Given the description of an element on the screen output the (x, y) to click on. 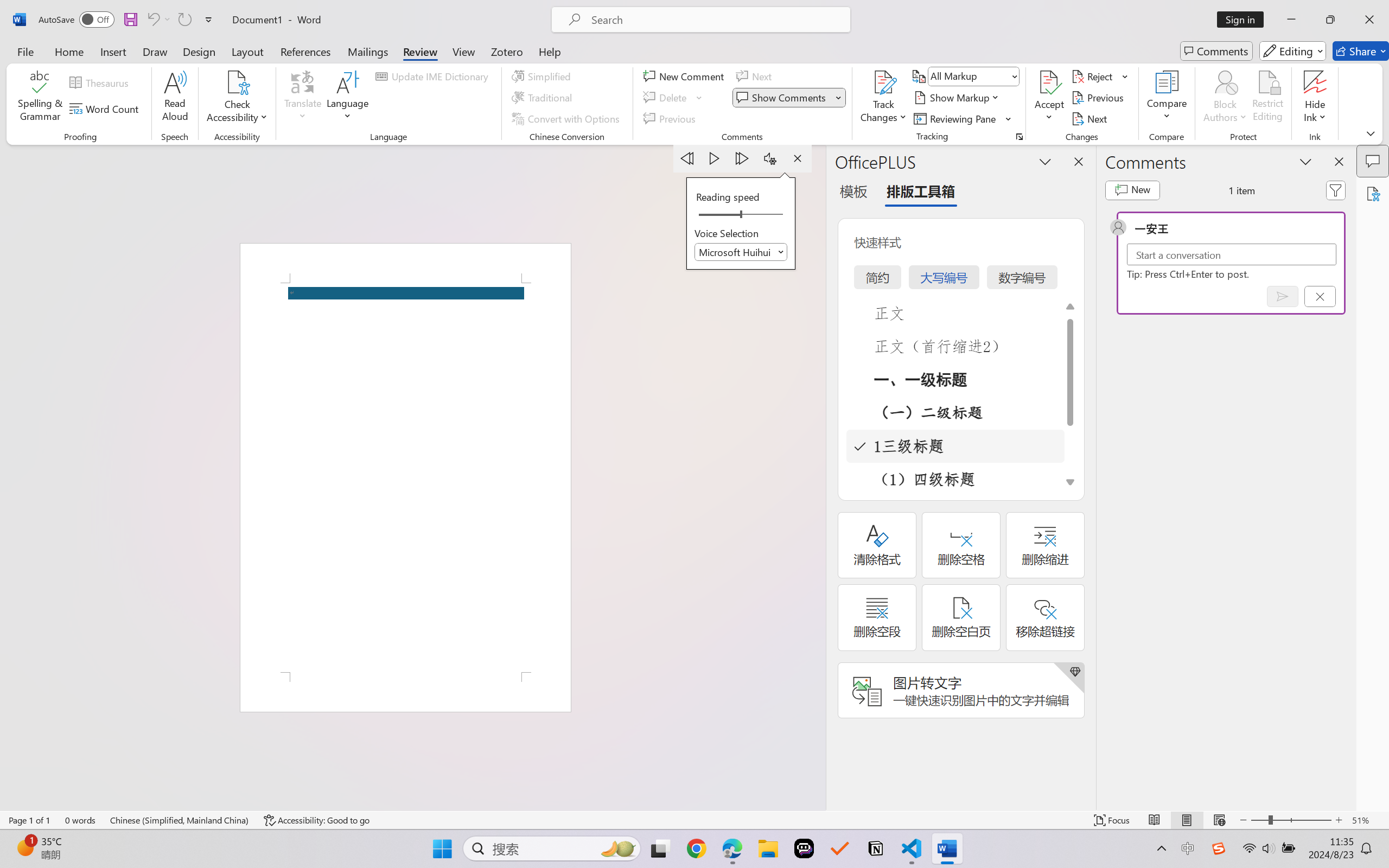
Repeat Accessibility Checker (184, 19)
Accessibility Assistant (1373, 193)
Show Comments (782, 97)
New Comment (685, 75)
Delete (666, 97)
Block Authors (1224, 81)
Thesaurus... (101, 82)
